Given the description of an element on the screen output the (x, y) to click on. 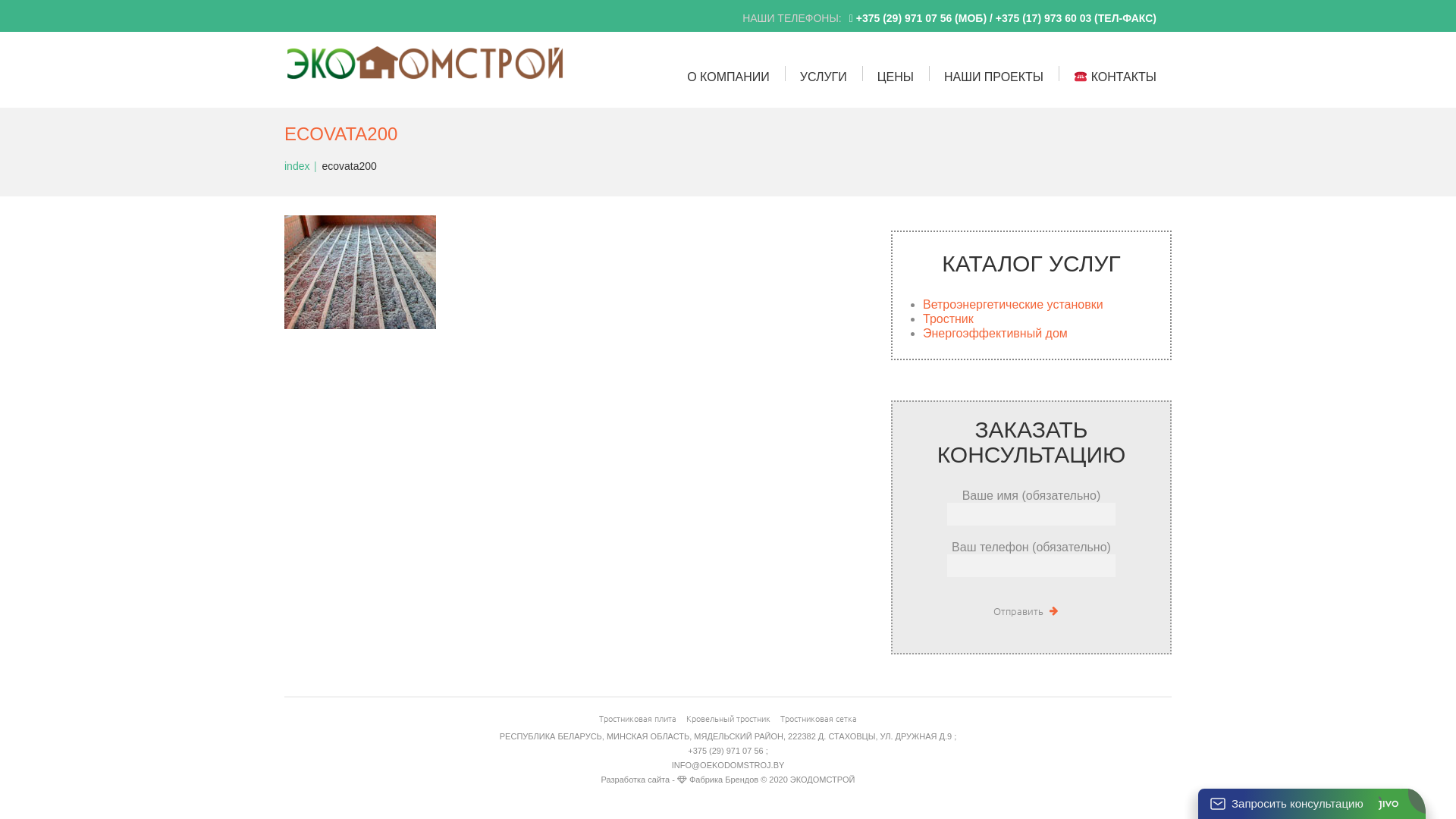
+375 (17) 973 60 03 Element type: text (1044, 18)
index Element type: text (296, 166)
+375 (29) 971 07 56 Element type: text (904, 18)
